Given the description of an element on the screen output the (x, y) to click on. 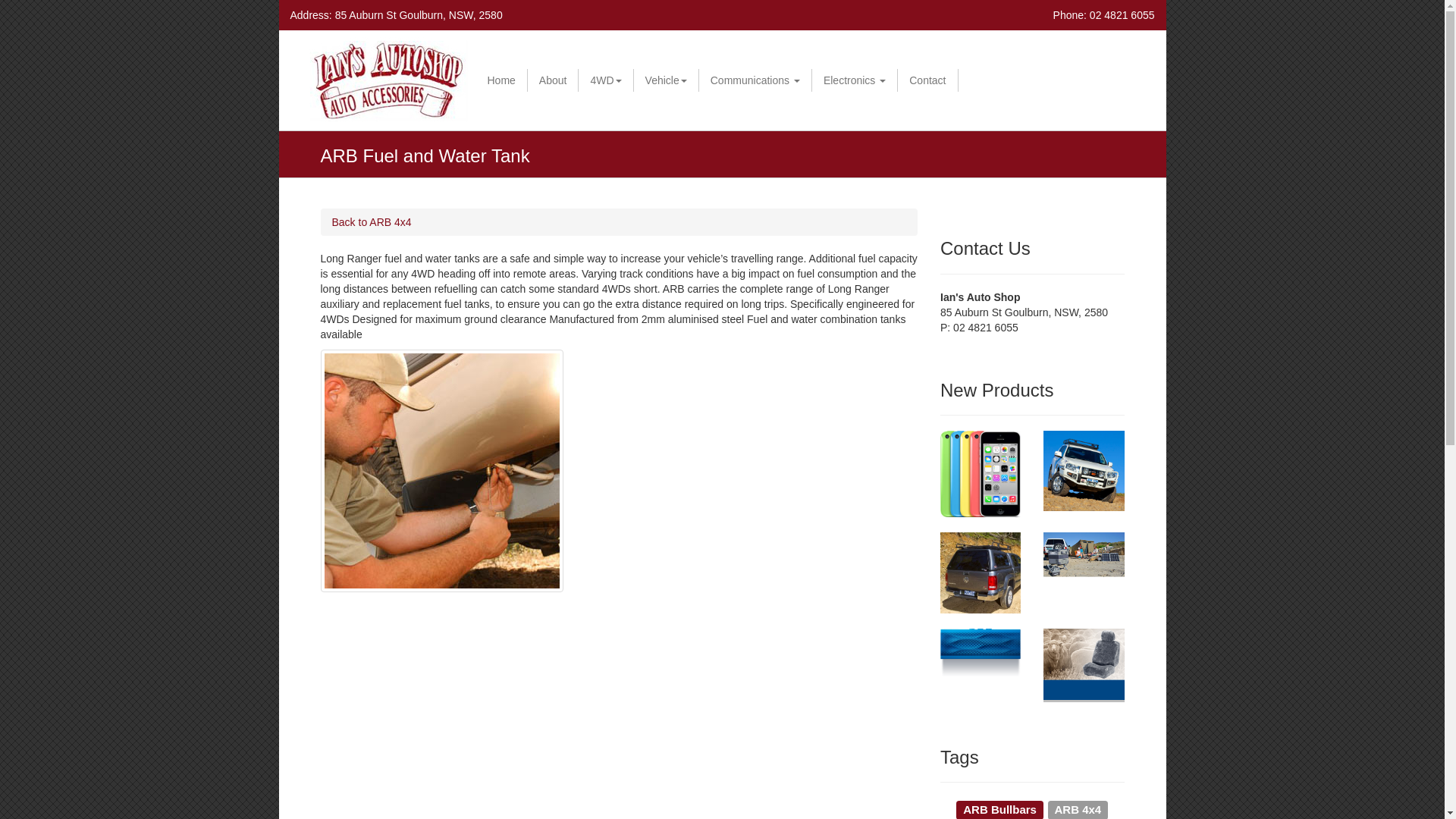
Electronics Element type: text (854, 80)
Vehicle Element type: text (666, 80)
ARB Bullar Element type: hover (1083, 470)
Back to ARB 4x4 Element type: text (371, 222)
Iphone5 Element type: hover (980, 473)
Waeco Camping Element type: hover (1083, 563)
ARB Bullbars Element type: text (999, 808)
ARB Canopy Element type: hover (980, 572)
Jawbone Jambox Element type: hover (980, 652)
Home Element type: text (501, 80)
Seat Covers Element type: hover (1083, 665)
About Element type: text (552, 80)
ARB 4x4 Element type: text (1078, 808)
Communications Element type: text (755, 80)
Contact Element type: text (927, 80)
4WD Element type: text (605, 80)
